Given the description of an element on the screen output the (x, y) to click on. 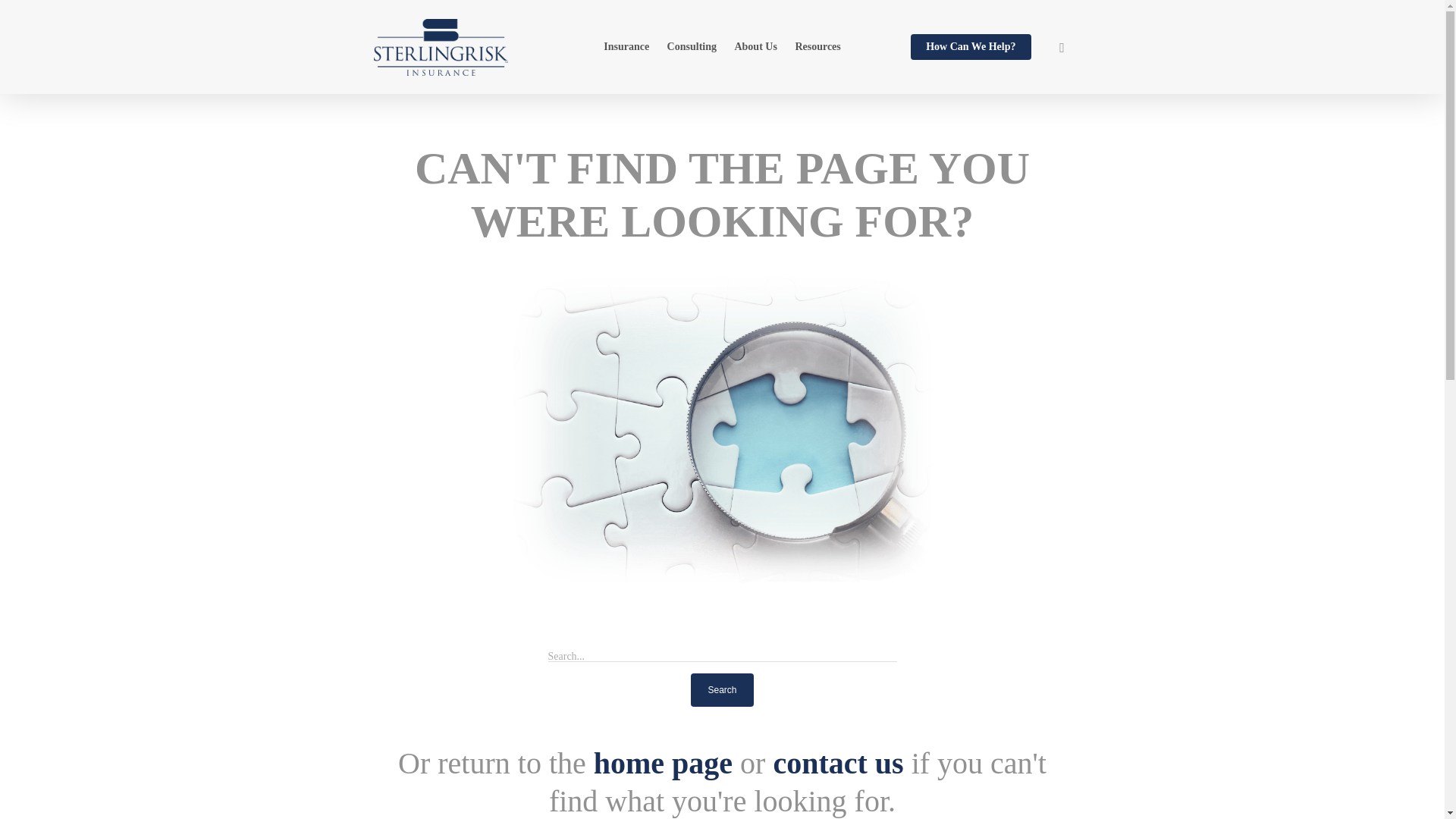
Search for: (721, 643)
SterlingRisk Insurance (663, 763)
Search (721, 689)
How Can We Help? (970, 56)
Search (721, 689)
